Given the description of an element on the screen output the (x, y) to click on. 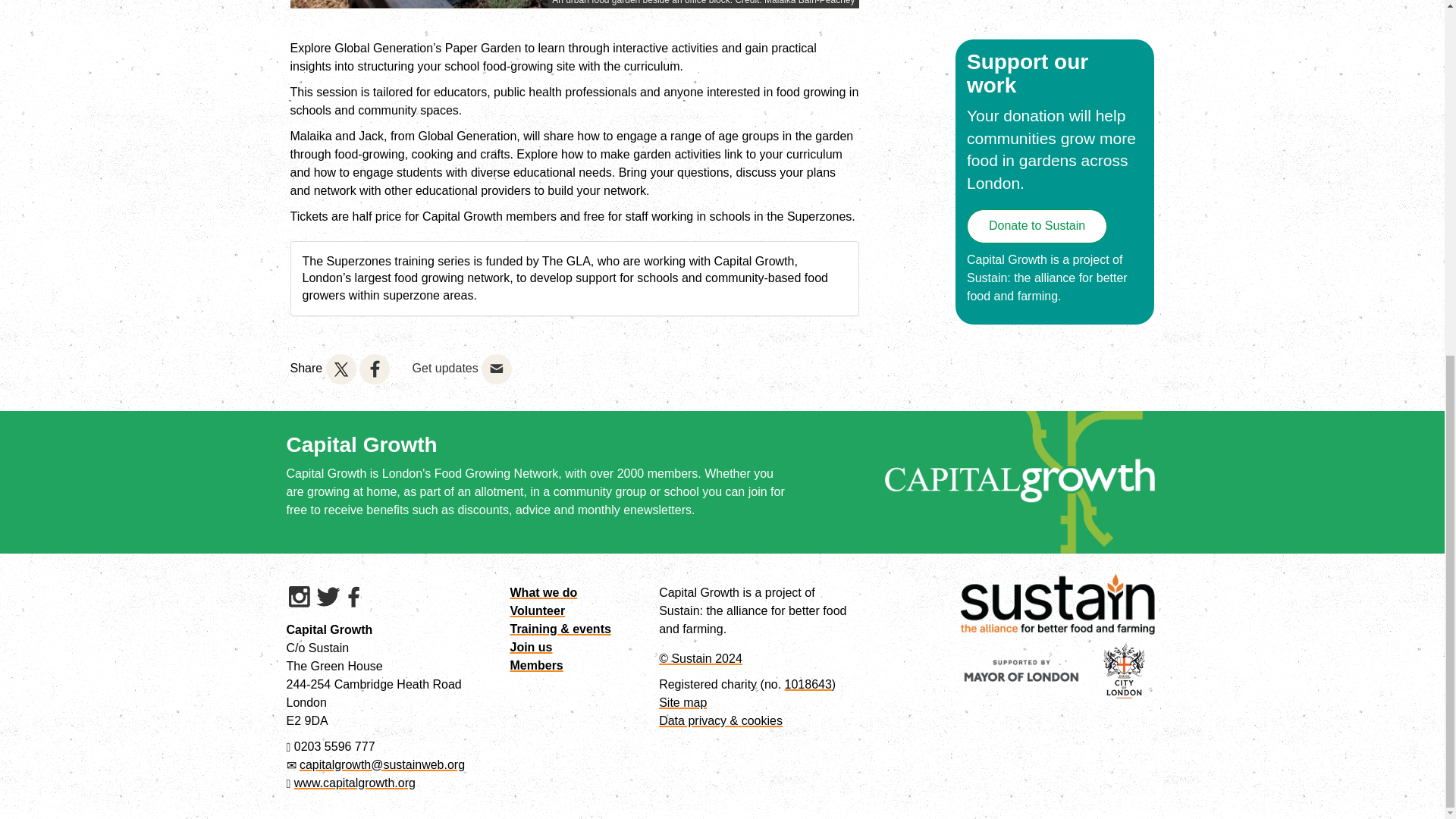
www.capitalgrowth.org (354, 782)
What we do (542, 592)
Volunteer (536, 610)
Donate to Sustain (1036, 226)
Join us (530, 646)
Get updates (445, 367)
